Given the description of an element on the screen output the (x, y) to click on. 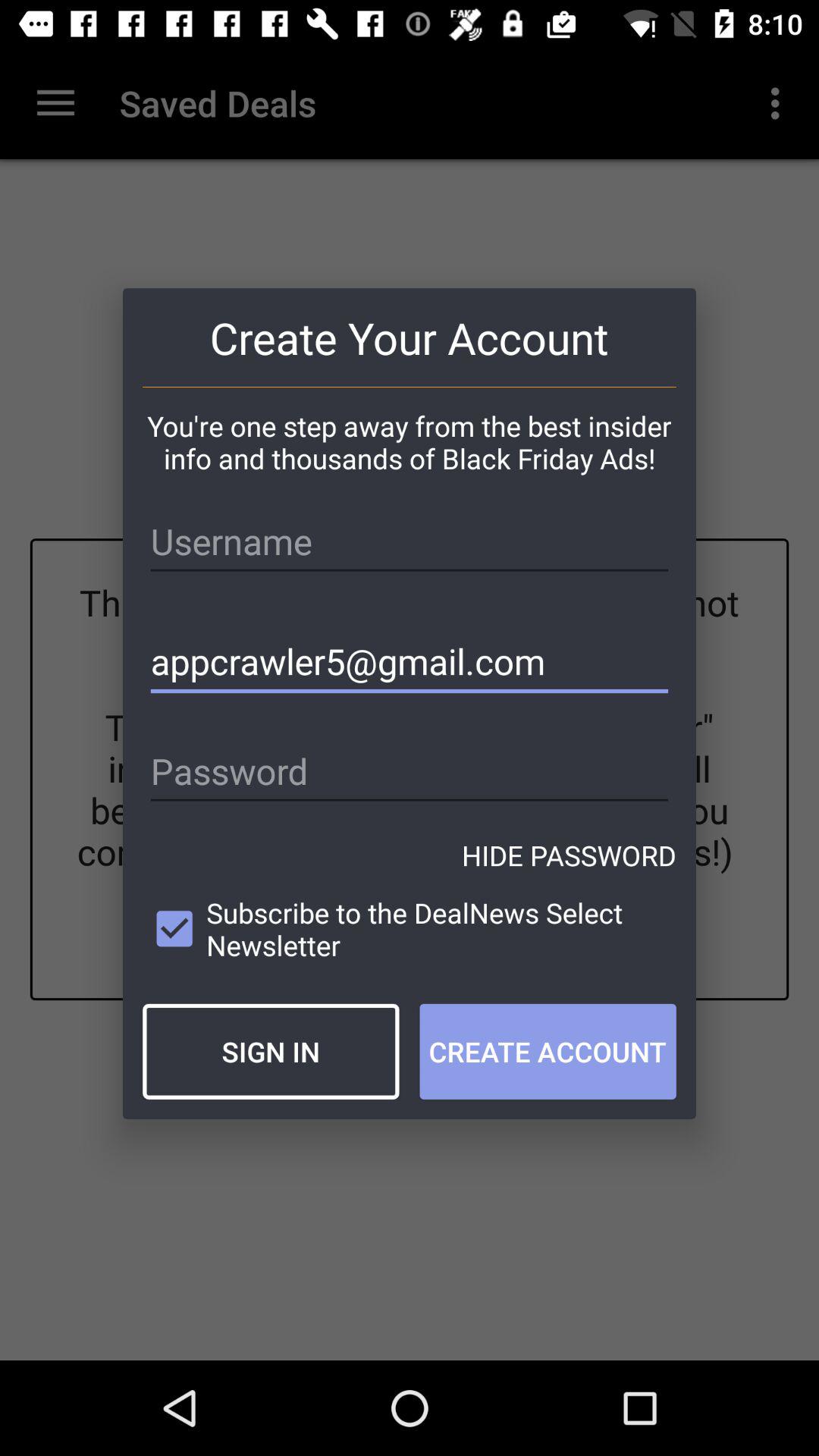
open icon above the subscribe to the (568, 855)
